Given the description of an element on the screen output the (x, y) to click on. 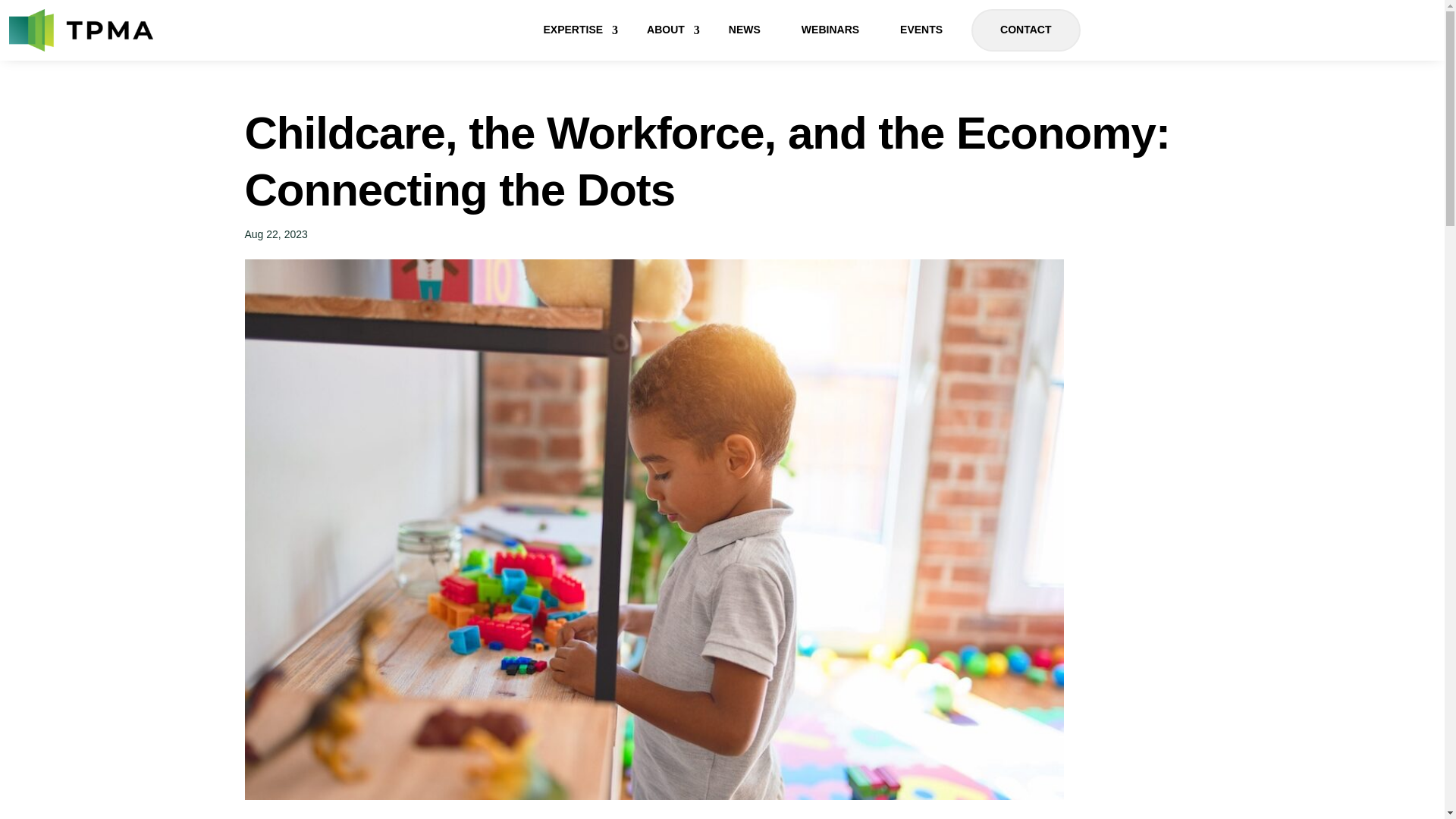
EVENTS (921, 30)
ABOUT (667, 30)
CONTACT (1025, 30)
NEWS (744, 30)
EXPERTISE (574, 30)
WEBINARS (829, 30)
